Given the description of an element on the screen output the (x, y) to click on. 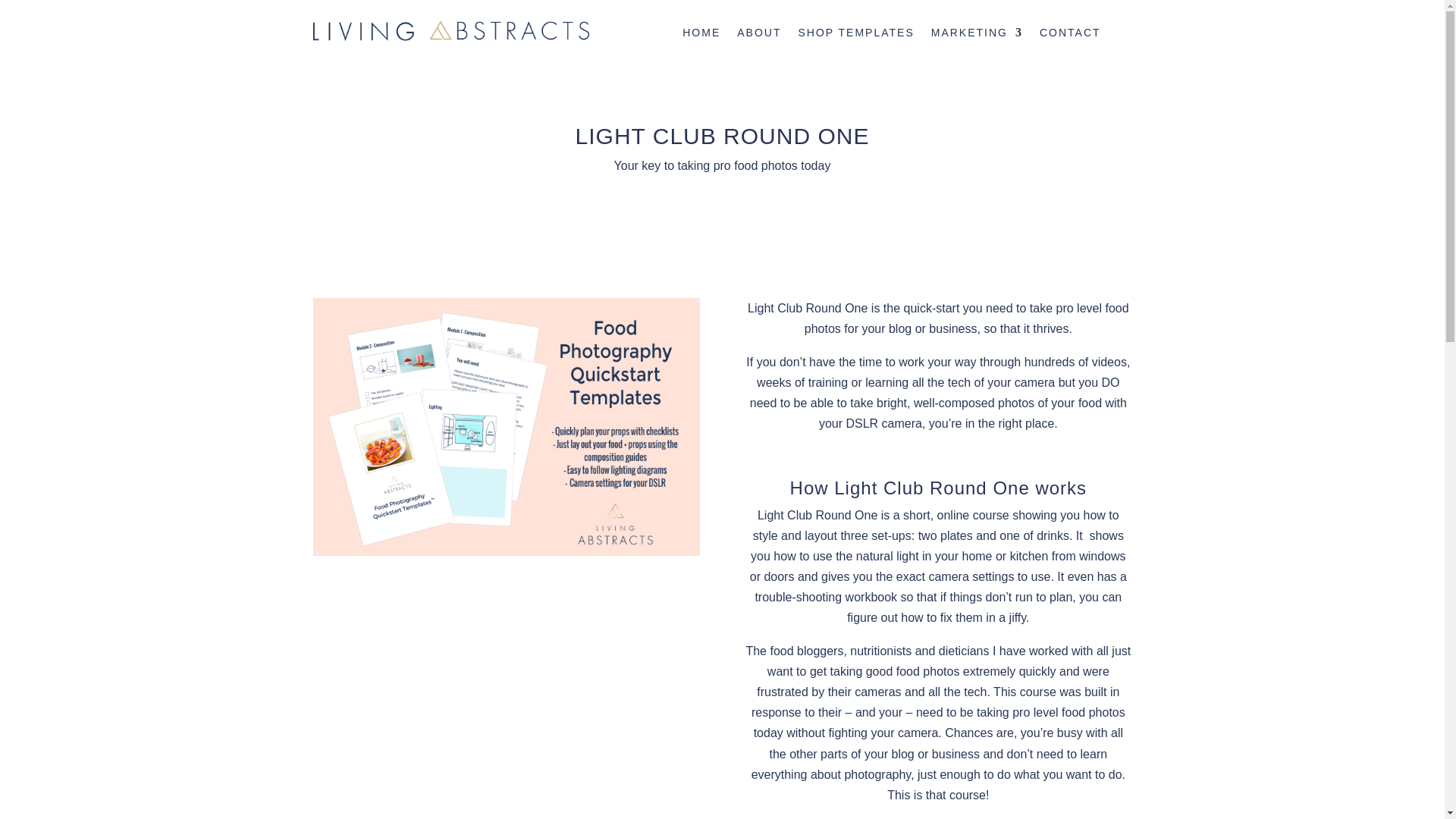
HOME (701, 35)
Living Abstracts social media templates and strategy (450, 30)
CONTACT (1069, 35)
ABOUT (758, 35)
MARKETING (977, 35)
SHOP TEMPLATES (855, 35)
